Given the description of an element on the screen output the (x, y) to click on. 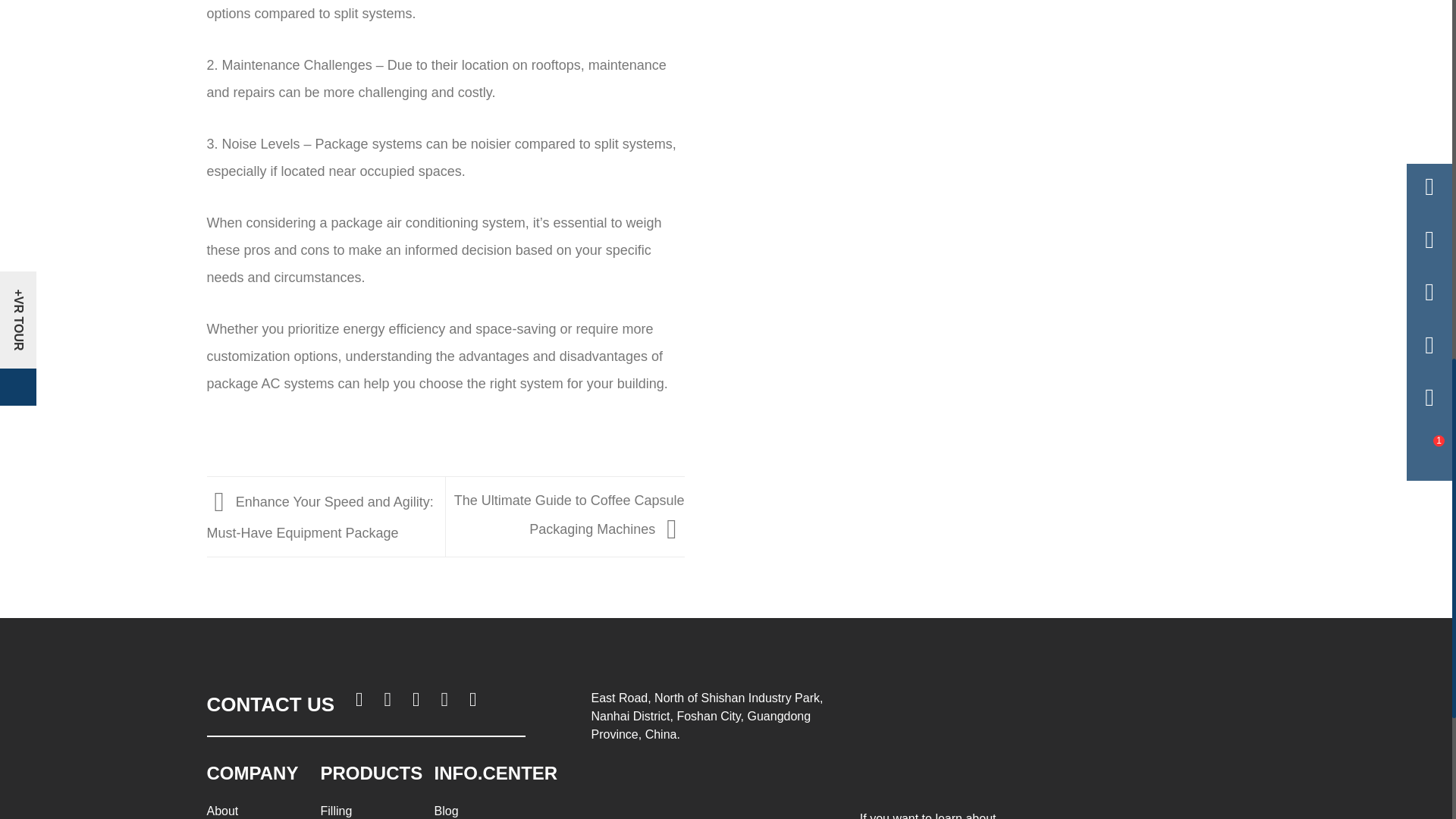
map (711, 781)
Filling (336, 810)
Blog (445, 810)
Enhance Your Speed and Agility: Must-Have Equipment Package (319, 517)
The Ultimate Guide to Coffee Capsule Packaging Machines (569, 515)
About (222, 810)
